Given the description of an element on the screen output the (x, y) to click on. 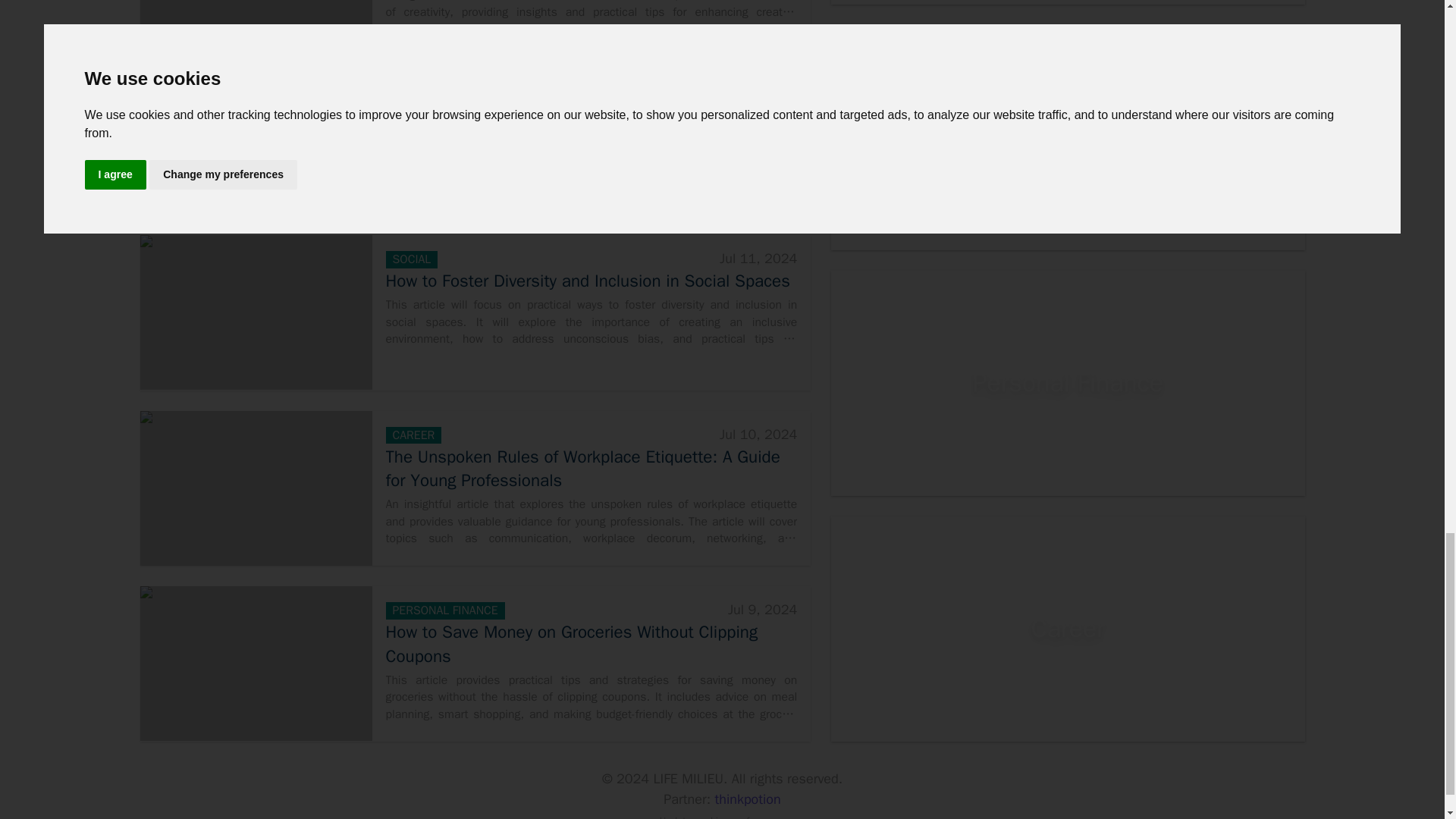
Creativity (1067, 137)
thinkpotion (747, 799)
Career (1067, 629)
Update cookies preferences (721, 816)
Personal Finance (1067, 383)
